Given the description of an element on the screen output the (x, y) to click on. 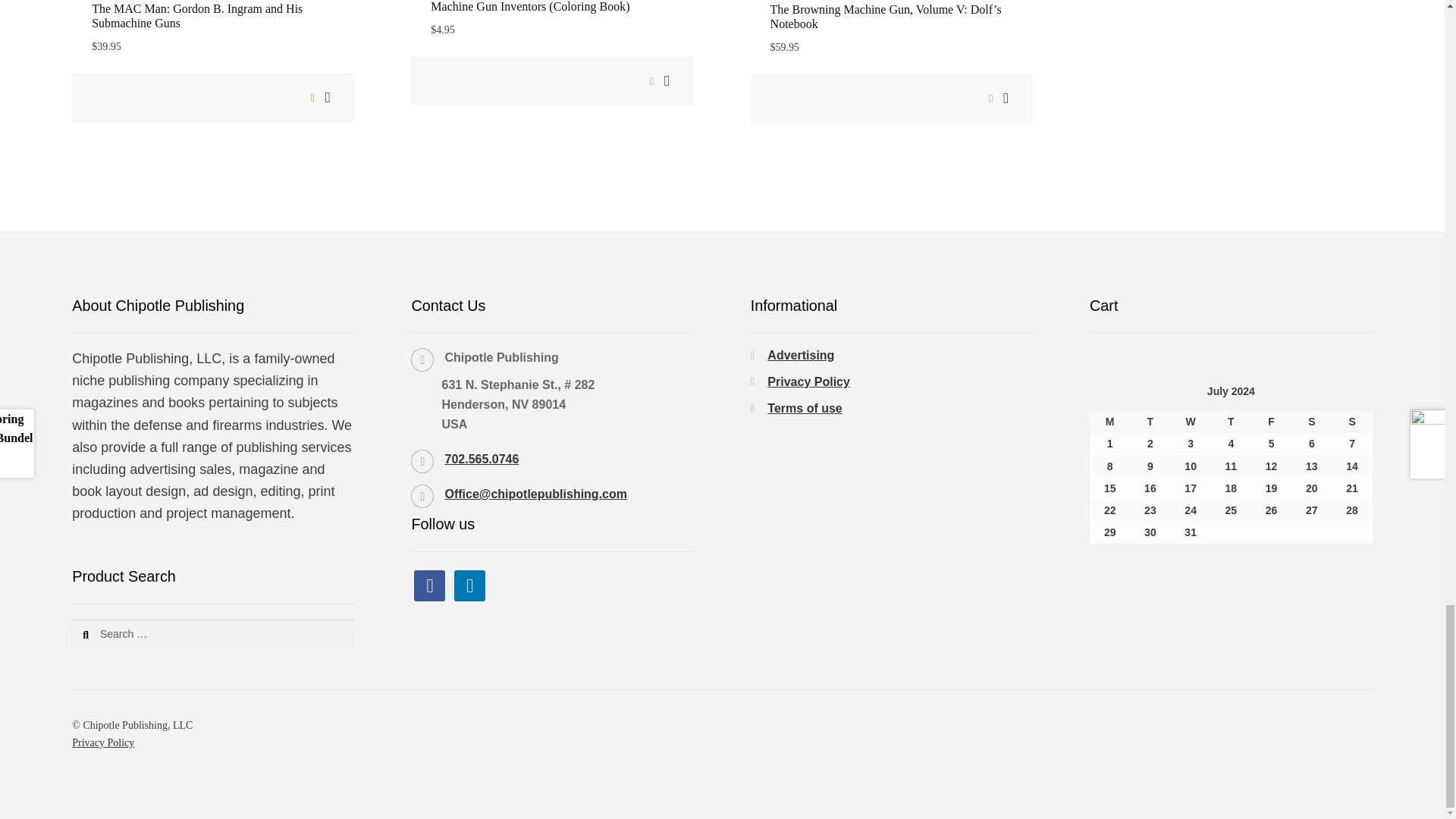
Tuesday (1149, 422)
Friday (1270, 422)
Thursday (1230, 422)
Saturday (1311, 422)
Default Label (469, 584)
Sunday (1351, 422)
Wednesday (1190, 422)
Facebook (429, 584)
